Given the description of an element on the screen output the (x, y) to click on. 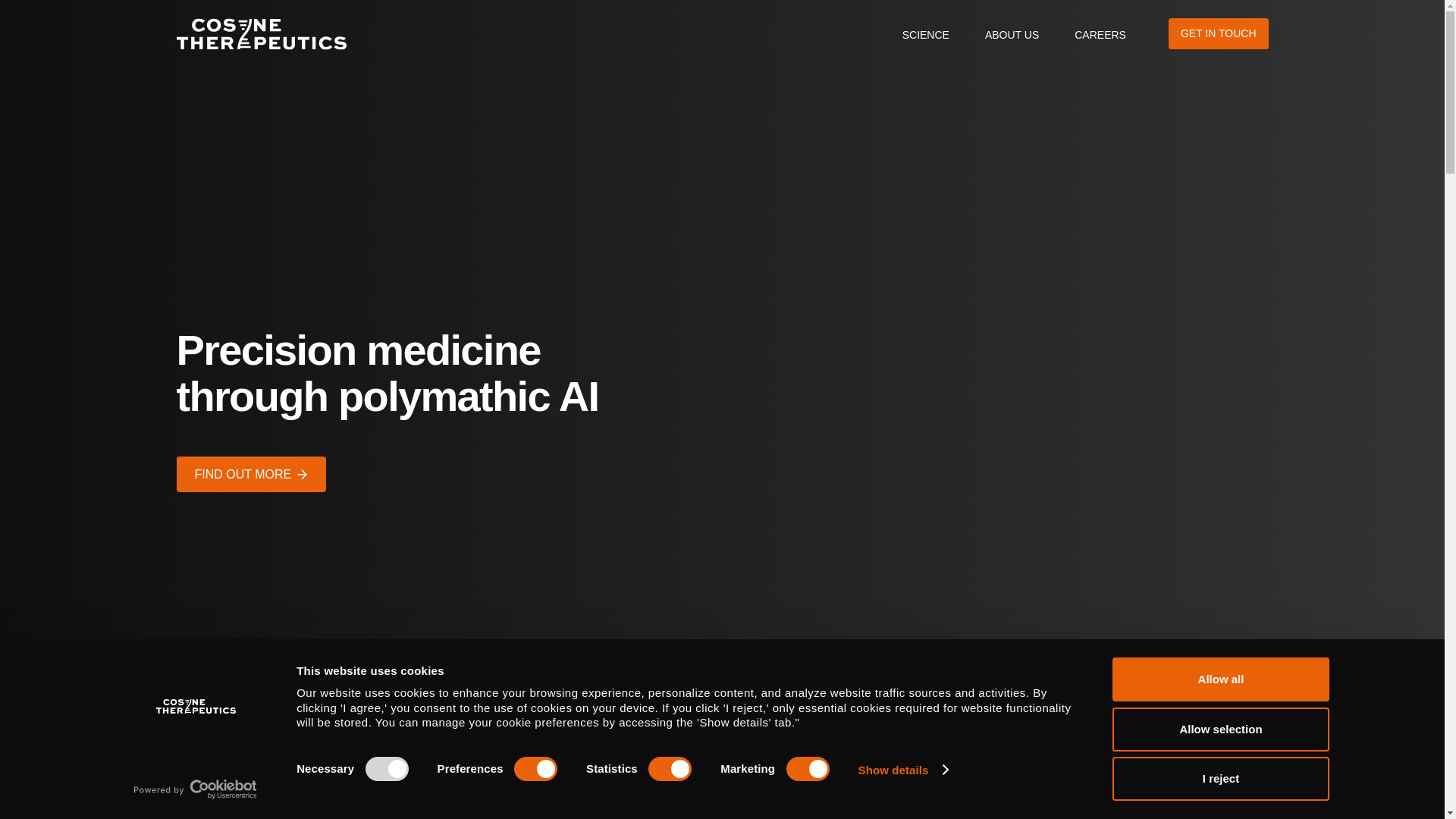
Allow selection (1219, 728)
CAREERS (1099, 33)
Allow all (1219, 679)
FIND OUT MORE (250, 474)
Show details (902, 769)
GET IN TOUCH (1218, 33)
I reject (1219, 778)
